Given the description of an element on the screen output the (x, y) to click on. 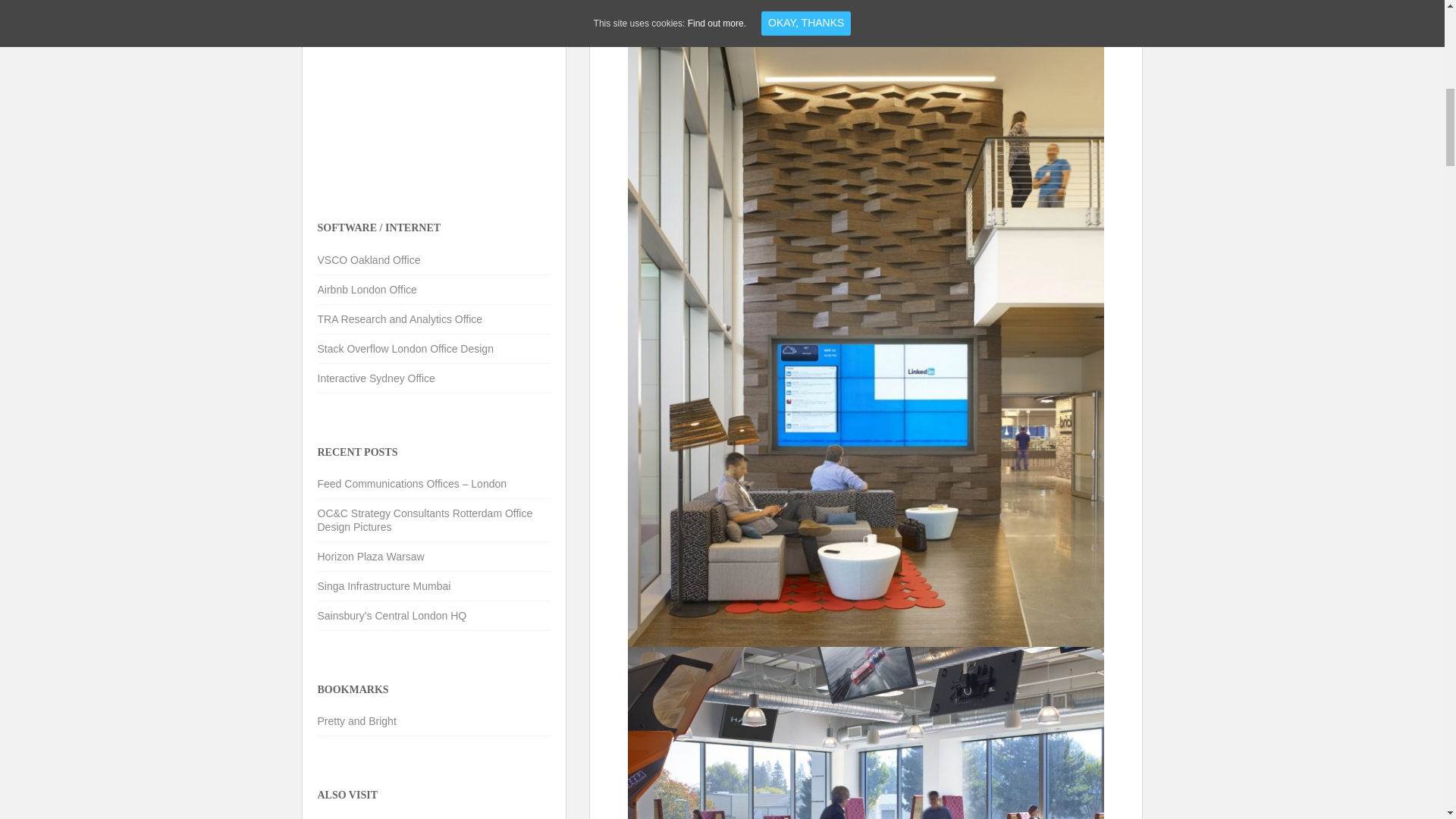
Pretty and Bright (356, 720)
Interactive Sydney Office (375, 378)
VSCO Oakland Office (368, 259)
VSCO Oakland Office (368, 259)
Horizon Plaza Warsaw (370, 556)
TRA Research and Analytics Office (399, 318)
Singa Infrastructure Mumbai (383, 585)
Stack Overflow London Office Design (405, 348)
Advertisement (430, 85)
Airbnb London Office (366, 289)
